Given the description of an element on the screen output the (x, y) to click on. 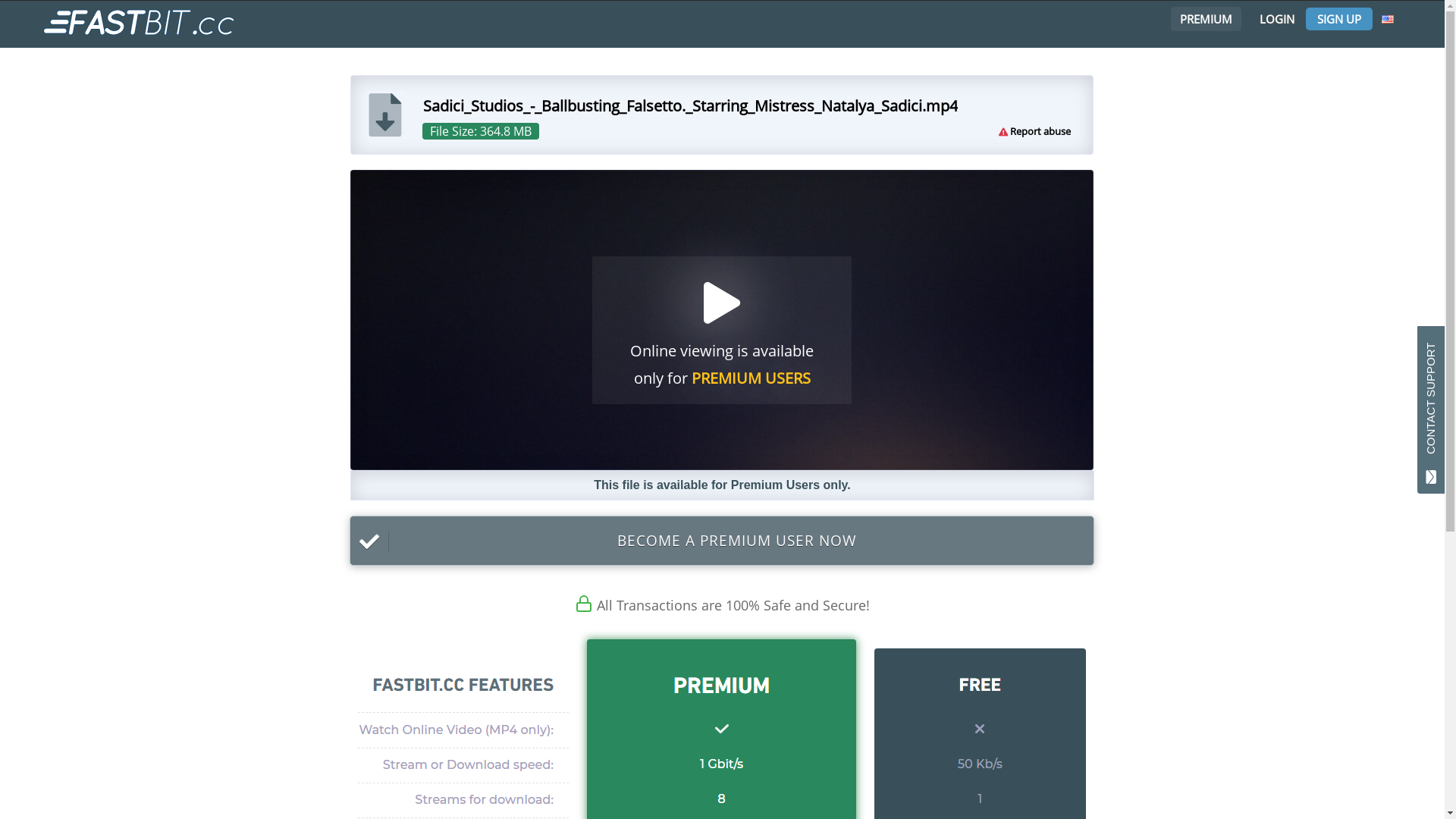
LOGIN Element type: text (1276, 18)
BECOME A PREMIUM USER NOW Element type: text (721, 540)
PREMIUM Element type: text (1203, 18)
Report abuse Element type: text (1040, 131)
Online viewing is available
only for PREMIUM USERS Element type: text (722, 319)
SIGN UP Element type: text (1338, 18)
